Given the description of an element on the screen output the (x, y) to click on. 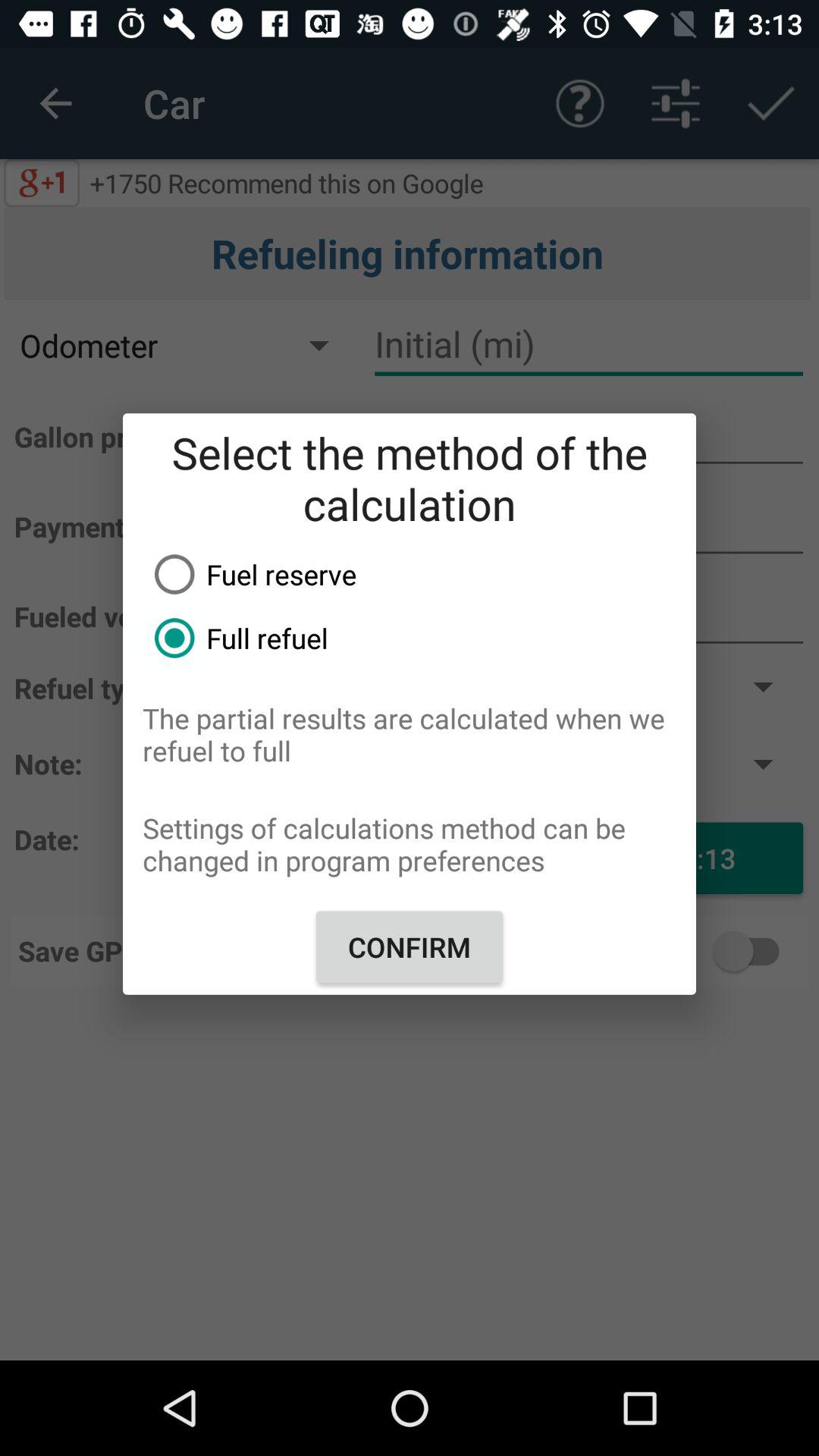
choose the fuel reserve icon (419, 574)
